Given the description of an element on the screen output the (x, y) to click on. 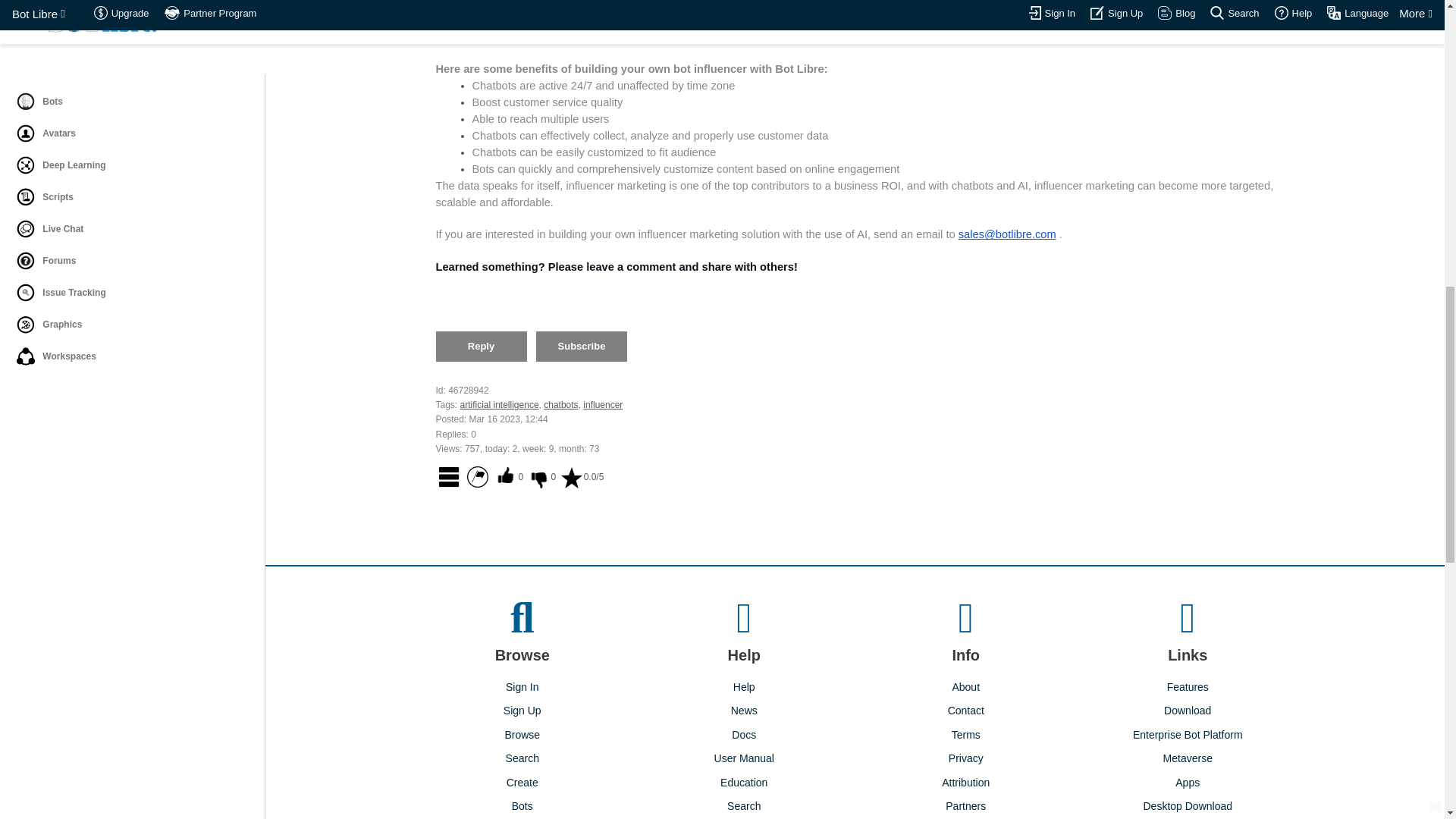
Subscribe to email notification of replies (581, 346)
Reply (480, 346)
Subscribe (581, 346)
